Given the description of an element on the screen output the (x, y) to click on. 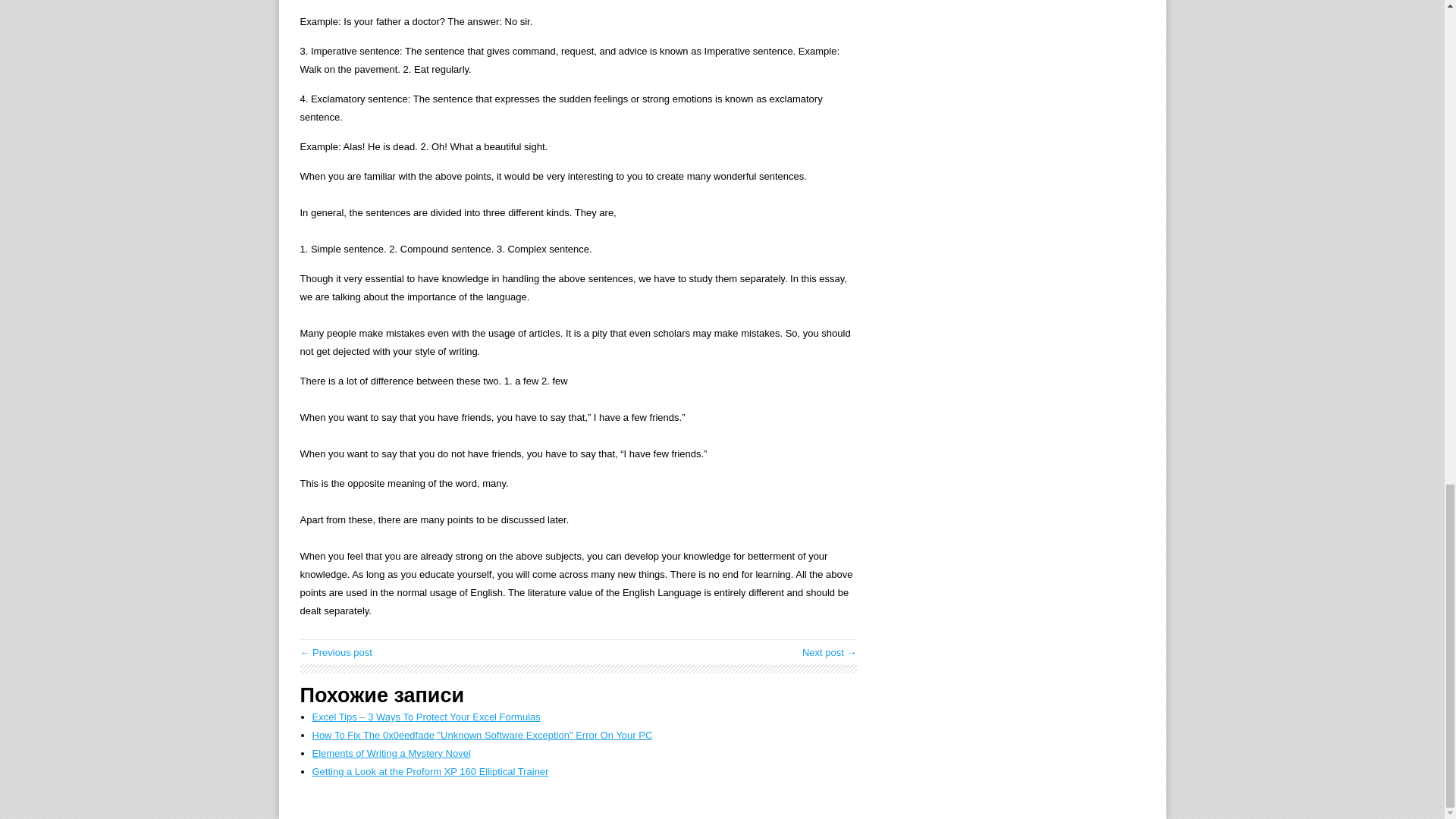
Elements of Writing a Mystery Novel (391, 753)
Getting a Look at the Proform XP 160 Elliptical Trainer (430, 771)
What's the Difference Between Patio Room and Sunroom? (829, 652)
Different Types of Card Games (335, 652)
